Given the description of an element on the screen output the (x, y) to click on. 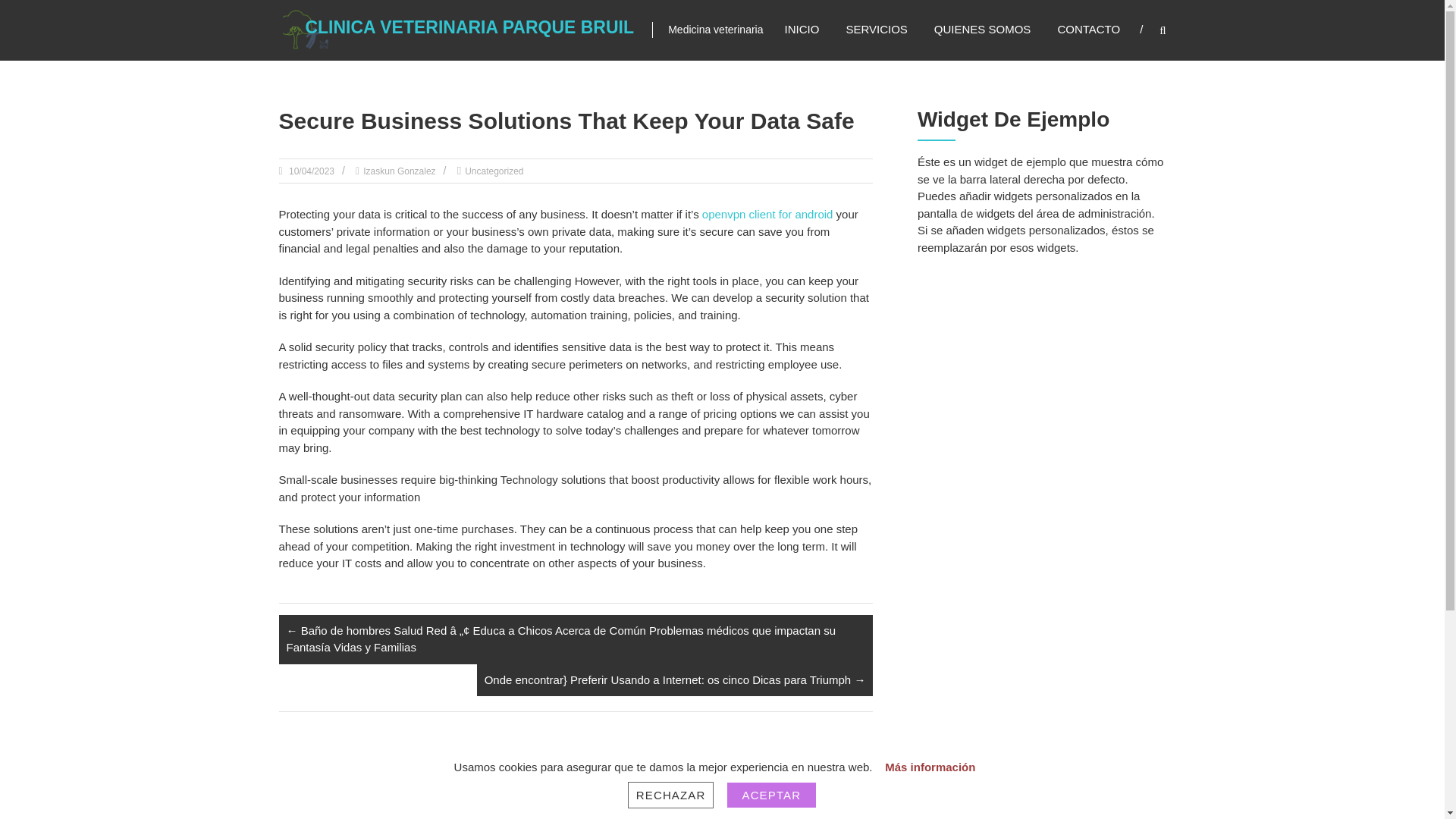
Buscar (1232, 409)
ACEPTAR (771, 795)
QUIENES SOMOS (982, 29)
RECHAZAR (670, 795)
Izaskun Gonzalez (398, 171)
4:03 pm (310, 171)
INICIO (801, 29)
CONTACTO (1088, 29)
SERVICIOS (876, 29)
Izaskun Gonzalez (398, 171)
CLINICA VETERINARIA PARQUE BRUIL (468, 26)
Uncategorized (493, 171)
openvpn client for android (766, 214)
Clinica Veterinaria Parque Bruil (468, 26)
